Given the description of an element on the screen output the (x, y) to click on. 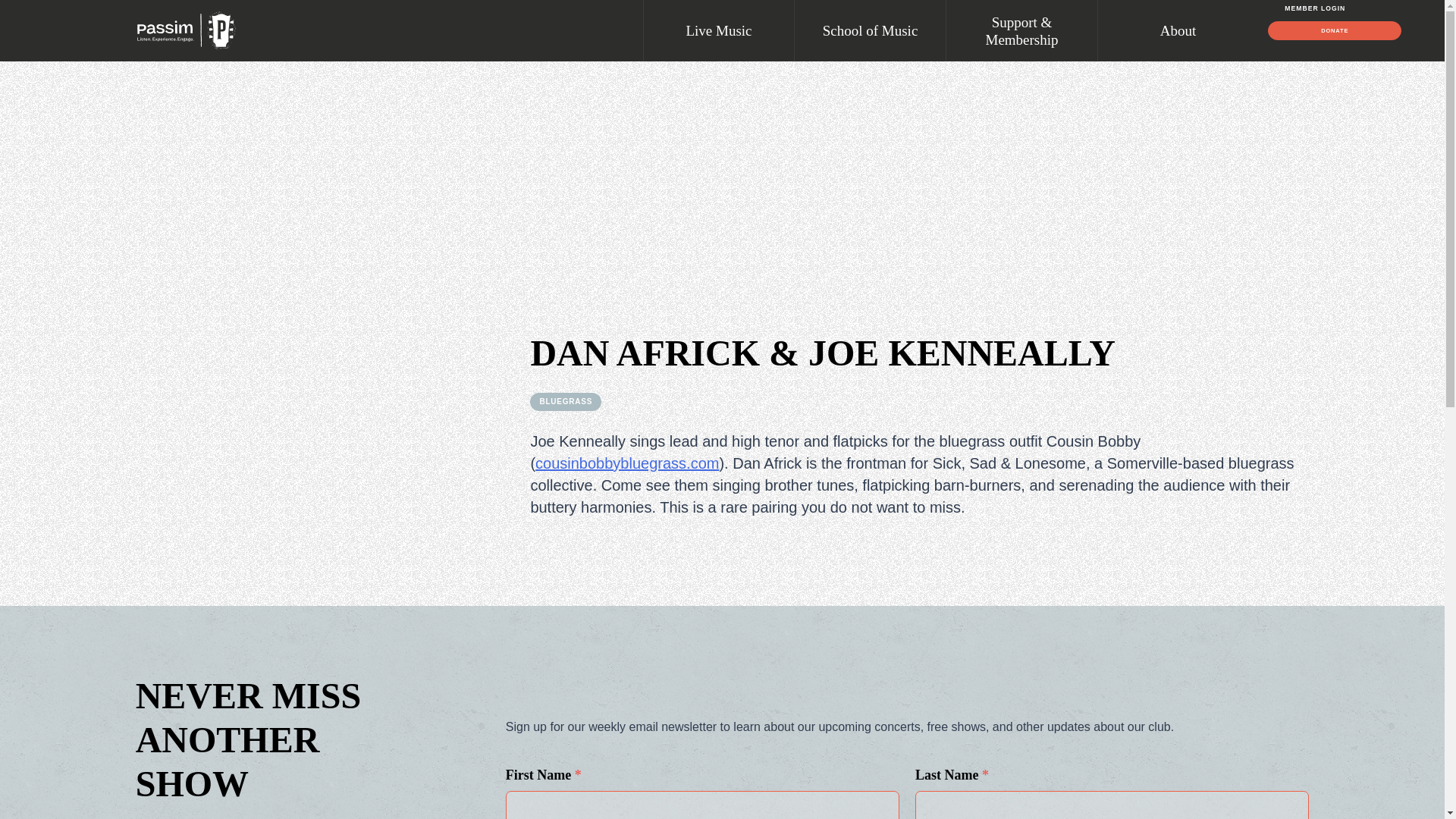
Passim (186, 30)
School of Music (869, 30)
About (1173, 30)
Live Music (718, 30)
